Given the description of an element on the screen output the (x, y) to click on. 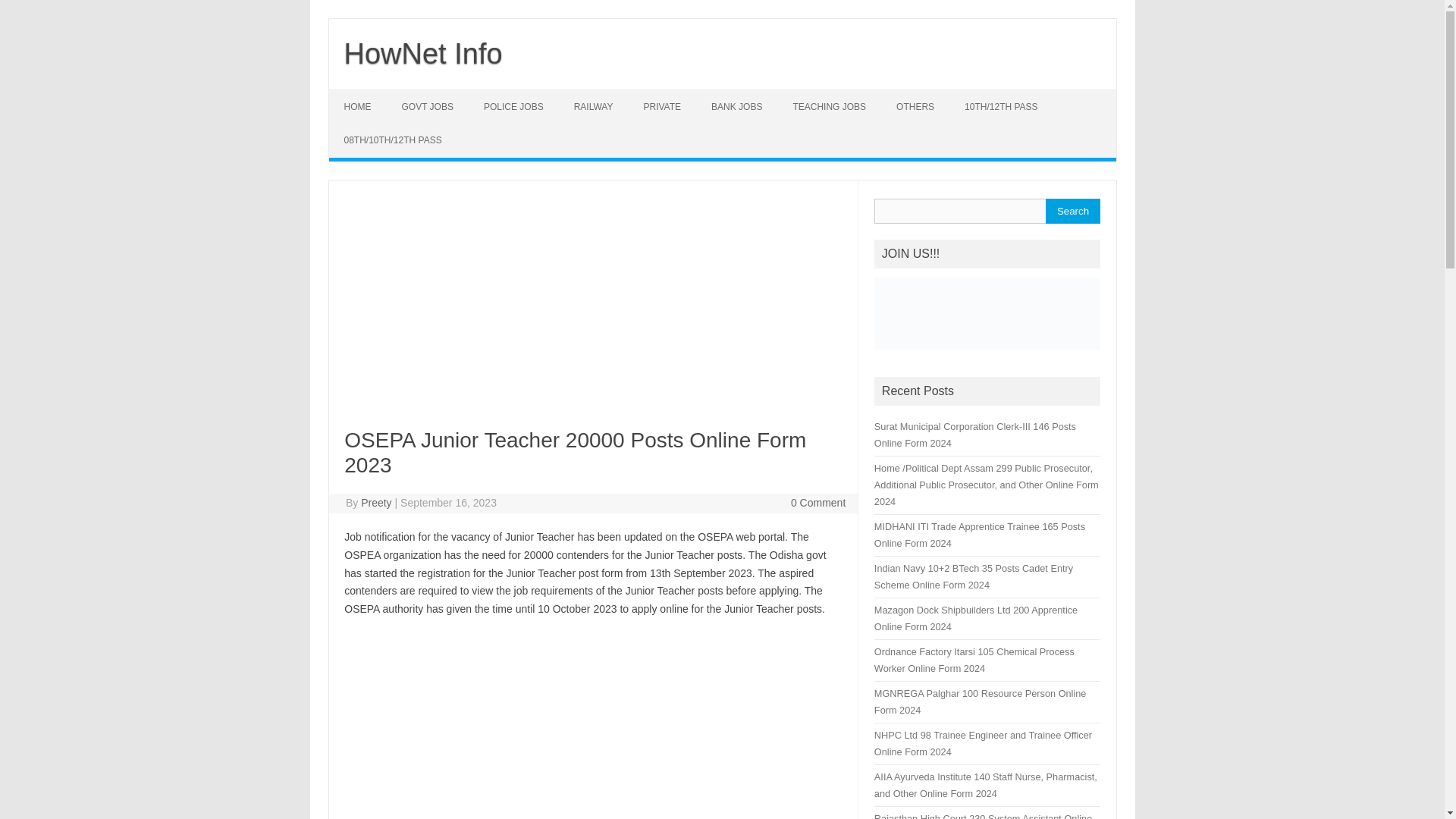
TEACHING JOBS (828, 106)
GOVT JOBS (427, 106)
Rajasthan High Court 230 System Assistant Online Form 2024 (983, 816)
HOME (358, 106)
HowNet Info (422, 53)
HowNet Info (422, 53)
